Given the description of an element on the screen output the (x, y) to click on. 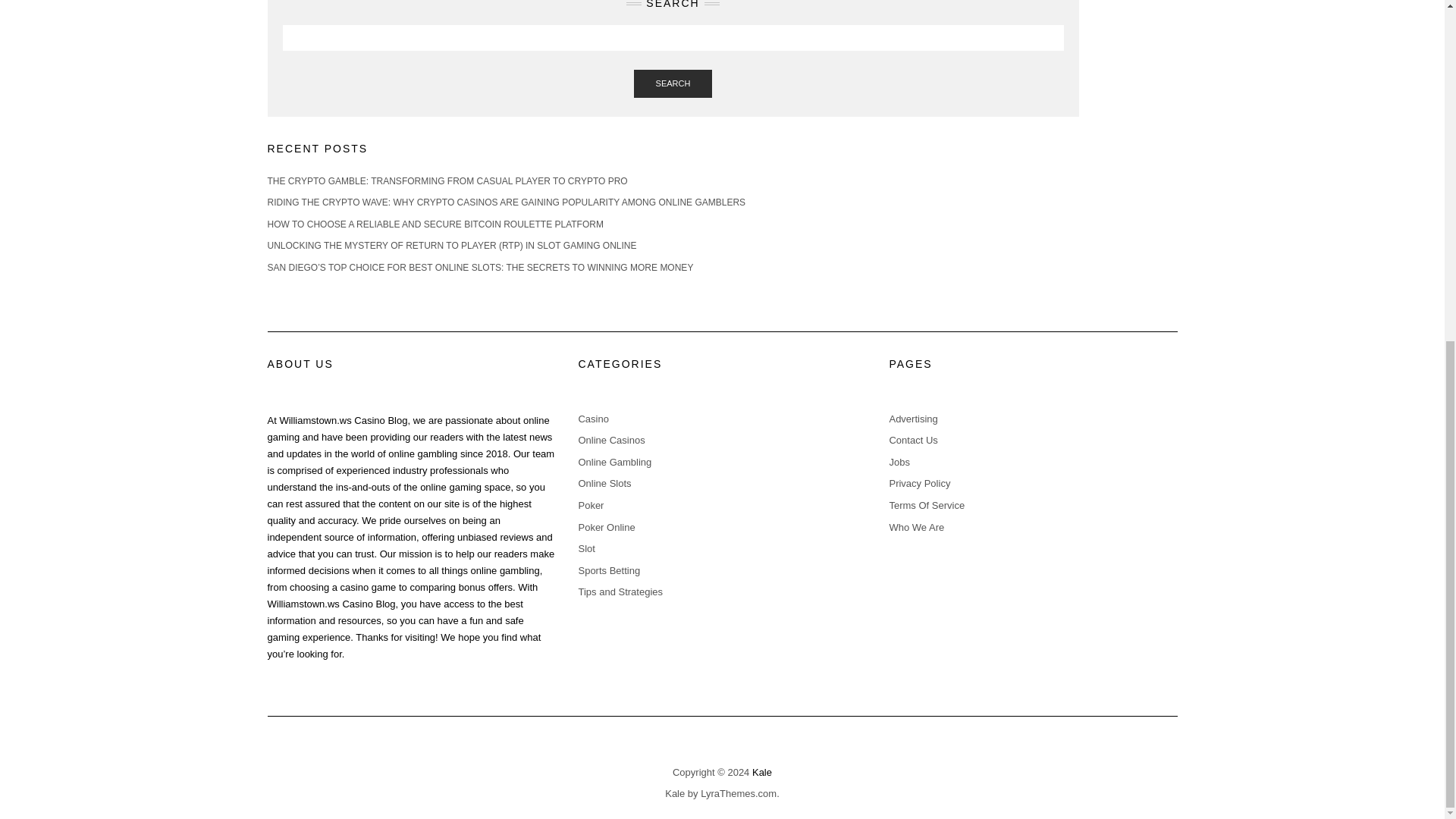
Tips and Strategies (620, 591)
SEARCH (673, 82)
Online Casinos (611, 439)
Privacy Policy (919, 482)
Advertising (912, 419)
Online Slots (604, 482)
Casino (593, 419)
Poker Online (606, 527)
Who We Are (915, 527)
Sports Betting (609, 570)
Contact Us (912, 439)
Slot (586, 548)
Online Gambling (614, 461)
